Given the description of an element on the screen output the (x, y) to click on. 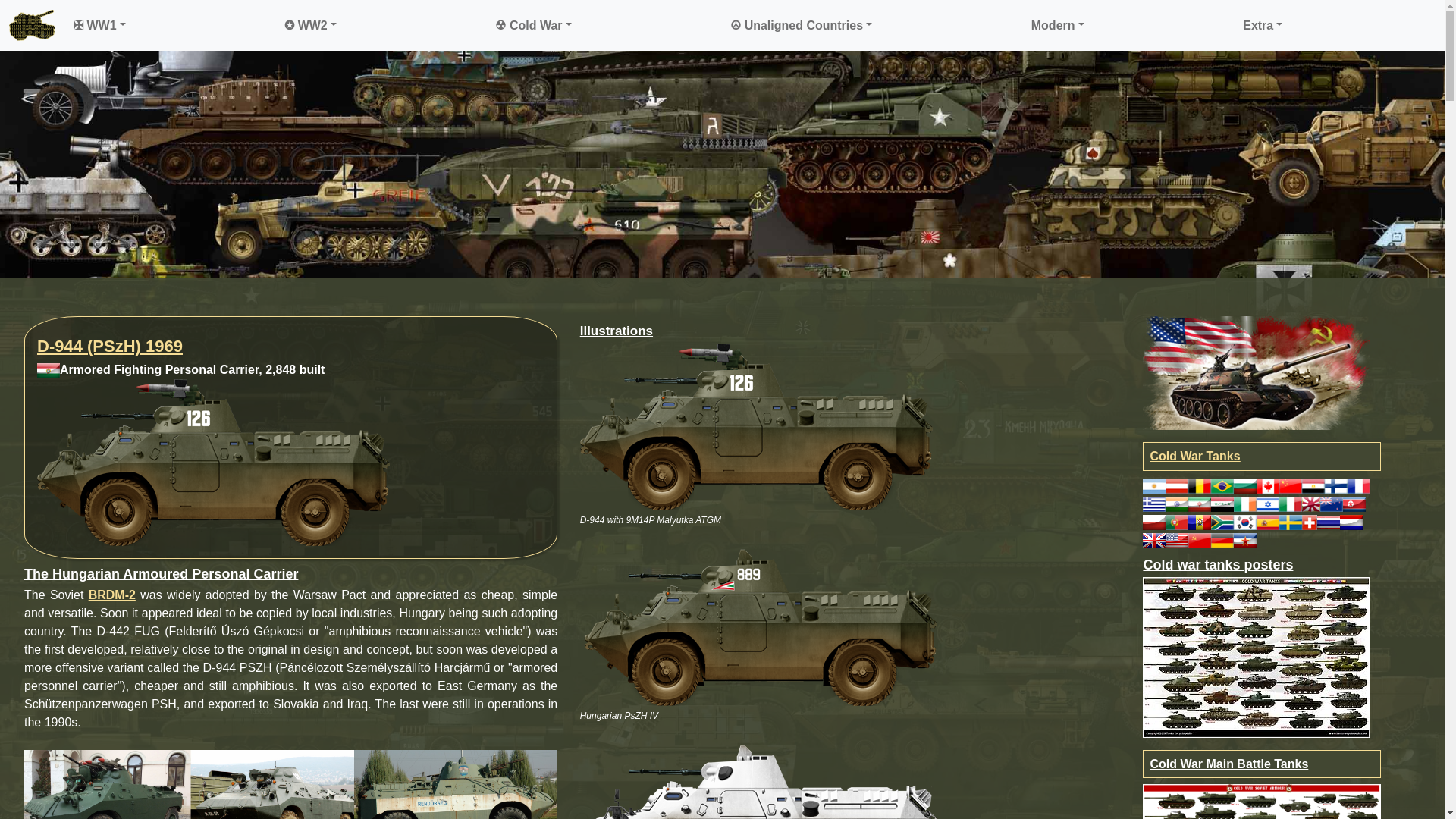
back home (31, 25)
